Given the description of an element on the screen output the (x, y) to click on. 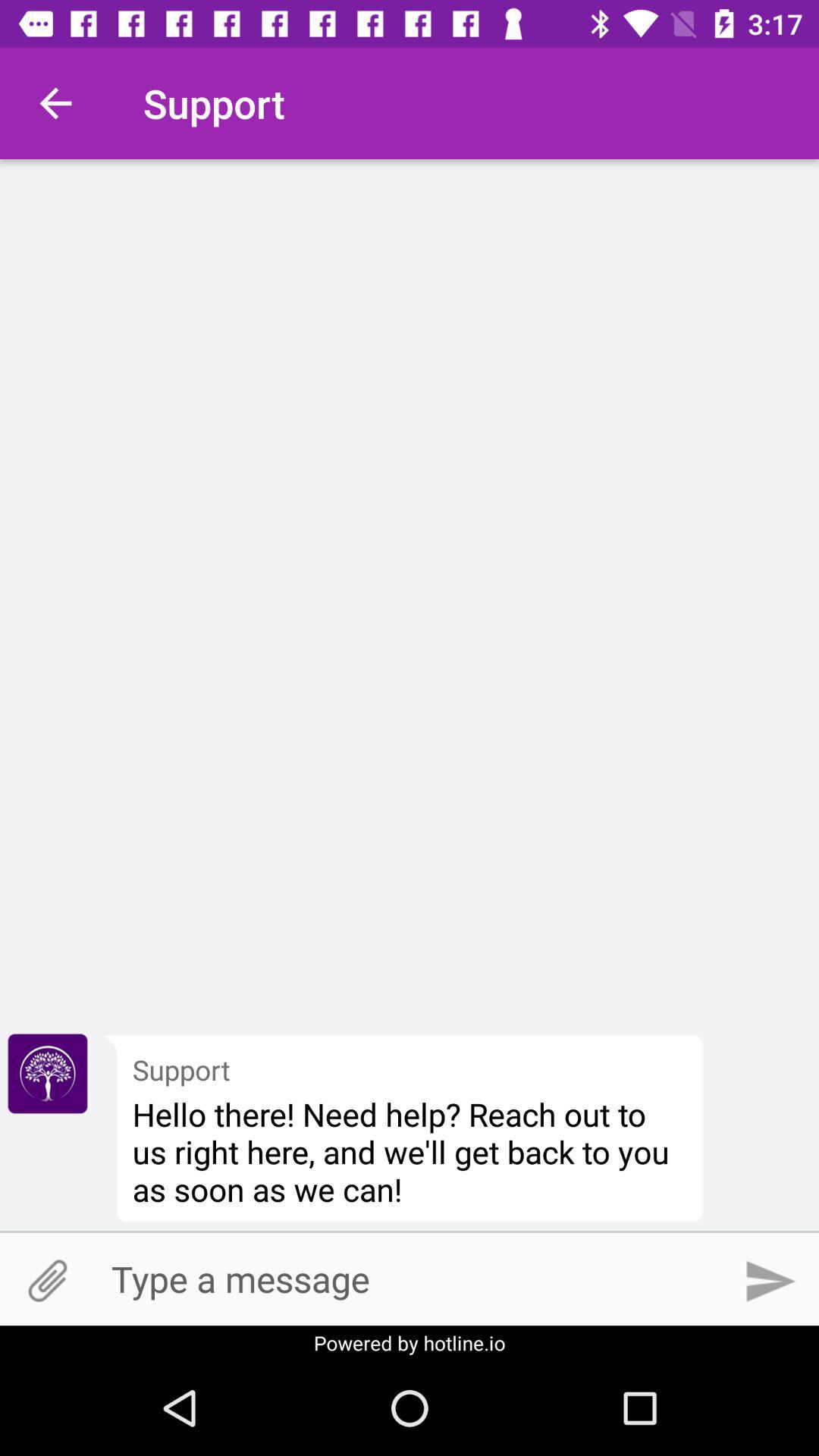
press item next to the support (47, 1073)
